Given the description of an element on the screen output the (x, y) to click on. 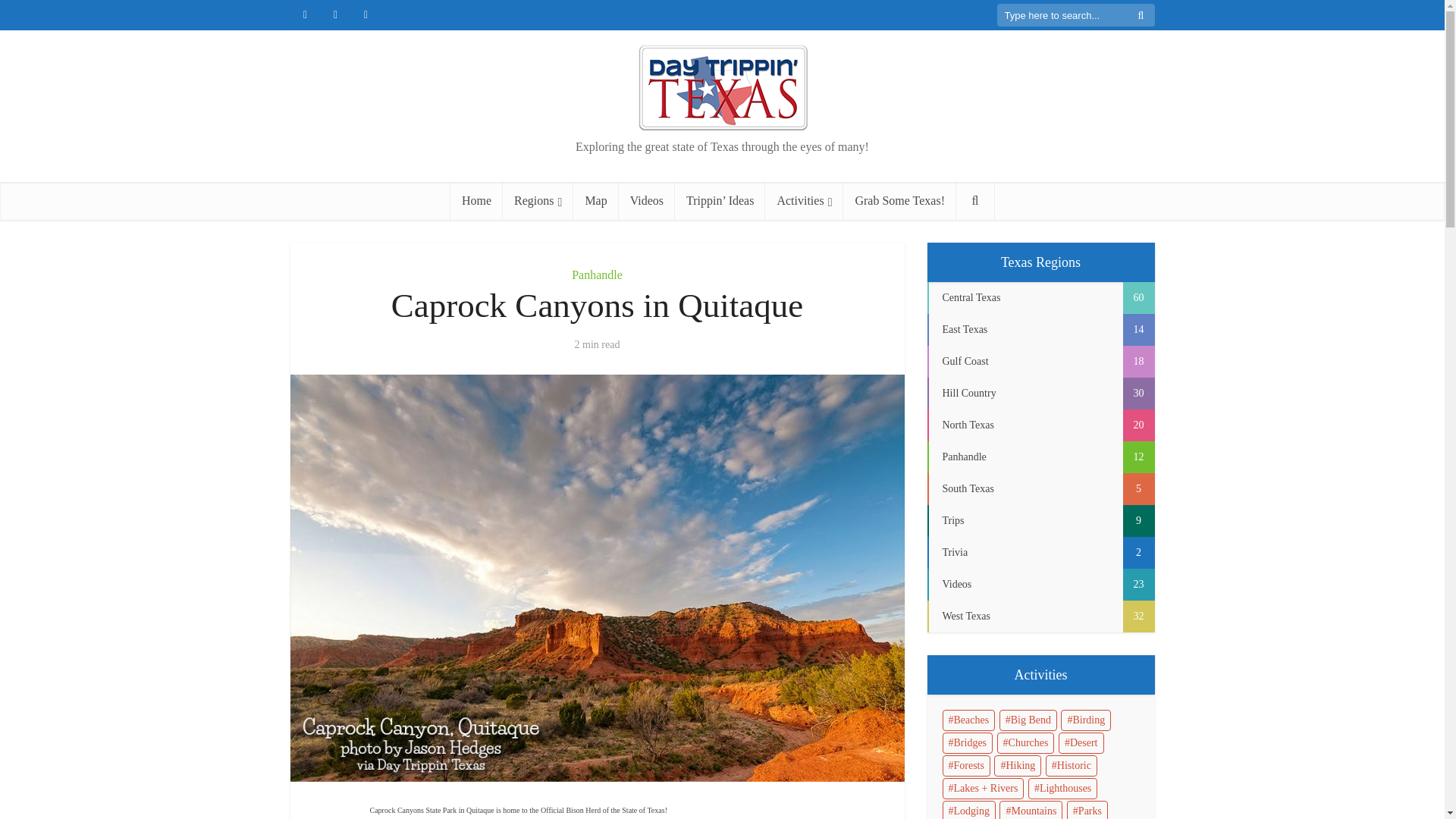
Regions (537, 200)
Home (475, 200)
Activities (804, 200)
Videos (646, 200)
Map (595, 200)
Type here to search... (1074, 15)
Type here to search... (1074, 15)
